Given the description of an element on the screen output the (x, y) to click on. 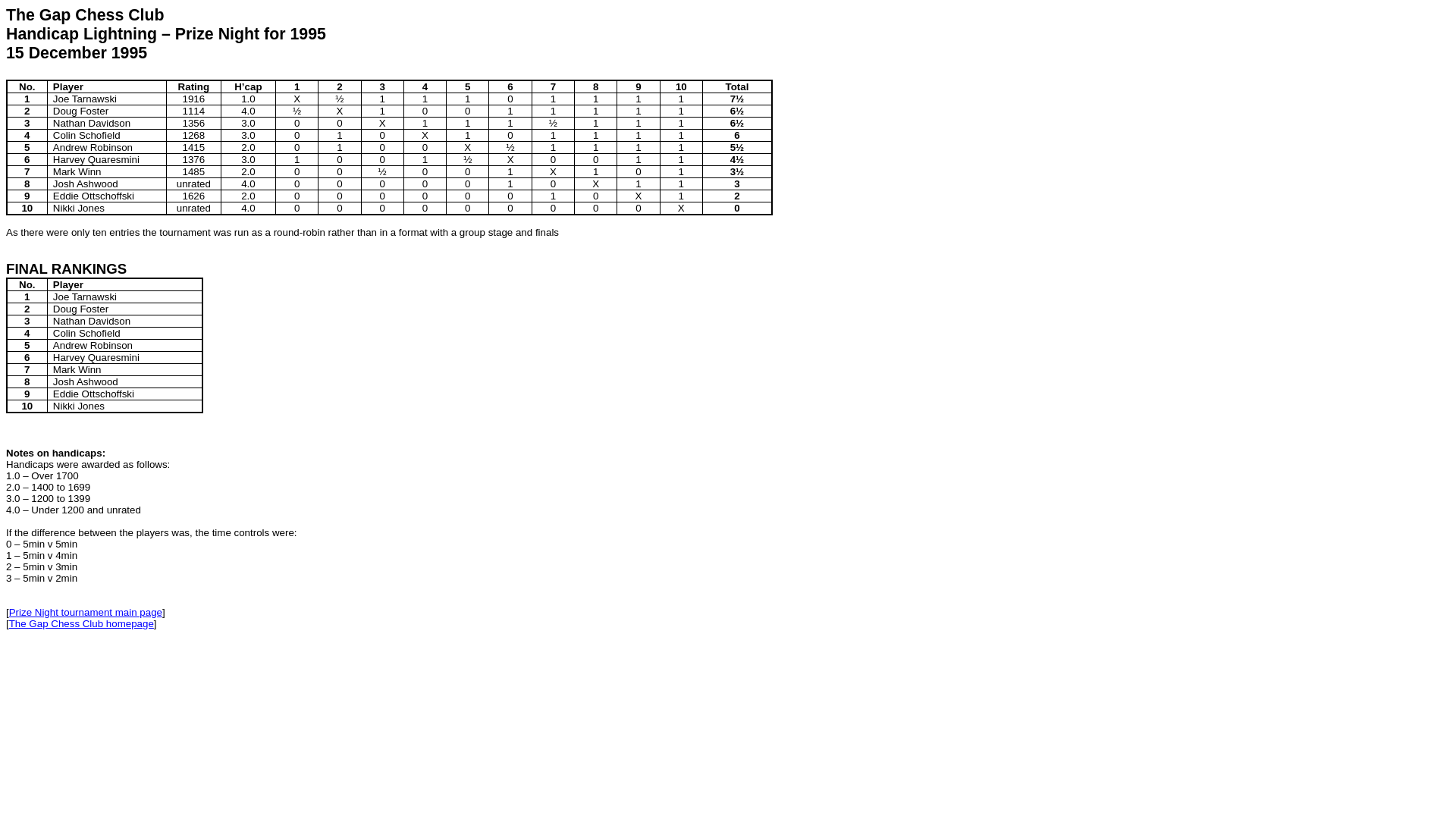
Prize Night tournament main page Element type: text (85, 612)
The Gap Chess Club homepage Element type: text (81, 623)
